Given the description of an element on the screen output the (x, y) to click on. 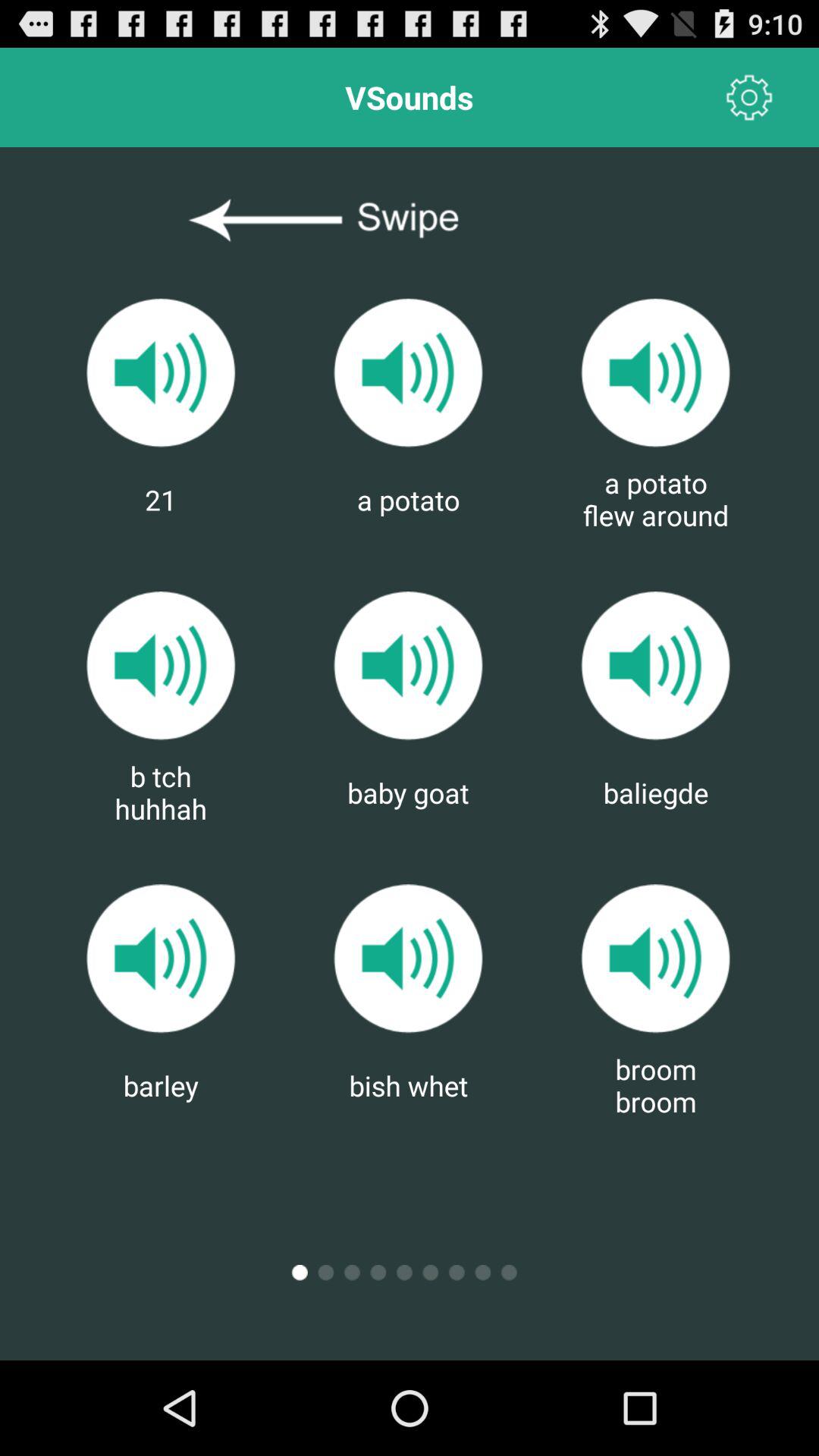
settings button (749, 97)
